Given the description of an element on the screen output the (x, y) to click on. 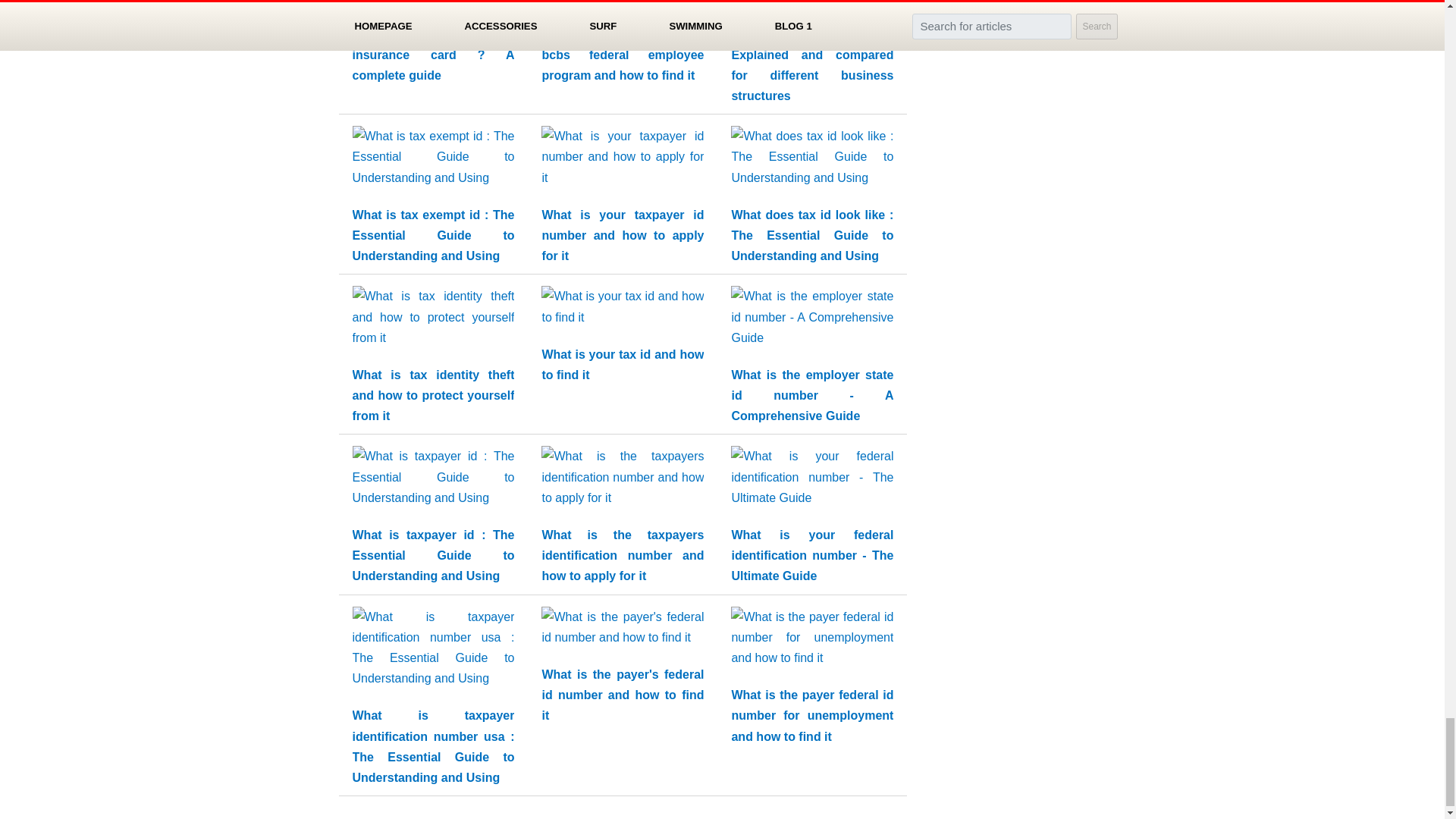
 What is the payer id on insurance card ? A complete guide (432, 54)
 What is your taxpayer id number and how to apply for it (622, 160)
What is the payer id on insurance card ? A complete guide (432, 54)
What is your taxpayer id number and how to apply for it (622, 235)
